Given the description of an element on the screen output the (x, y) to click on. 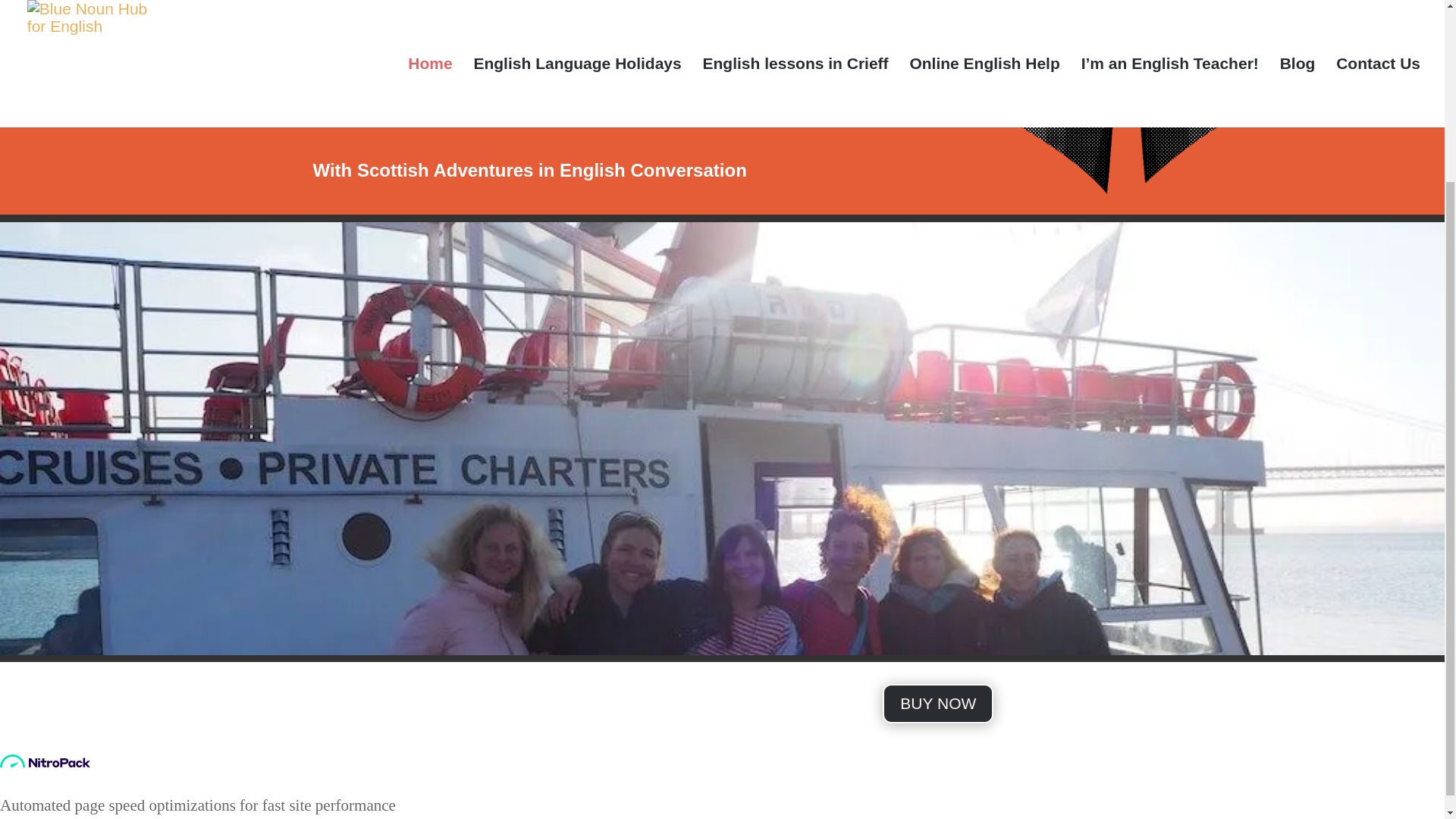
Social Action Policy icon - hands holding blue heart (1126, 96)
BUY NOW (937, 703)
